Given the description of an element on the screen output the (x, y) to click on. 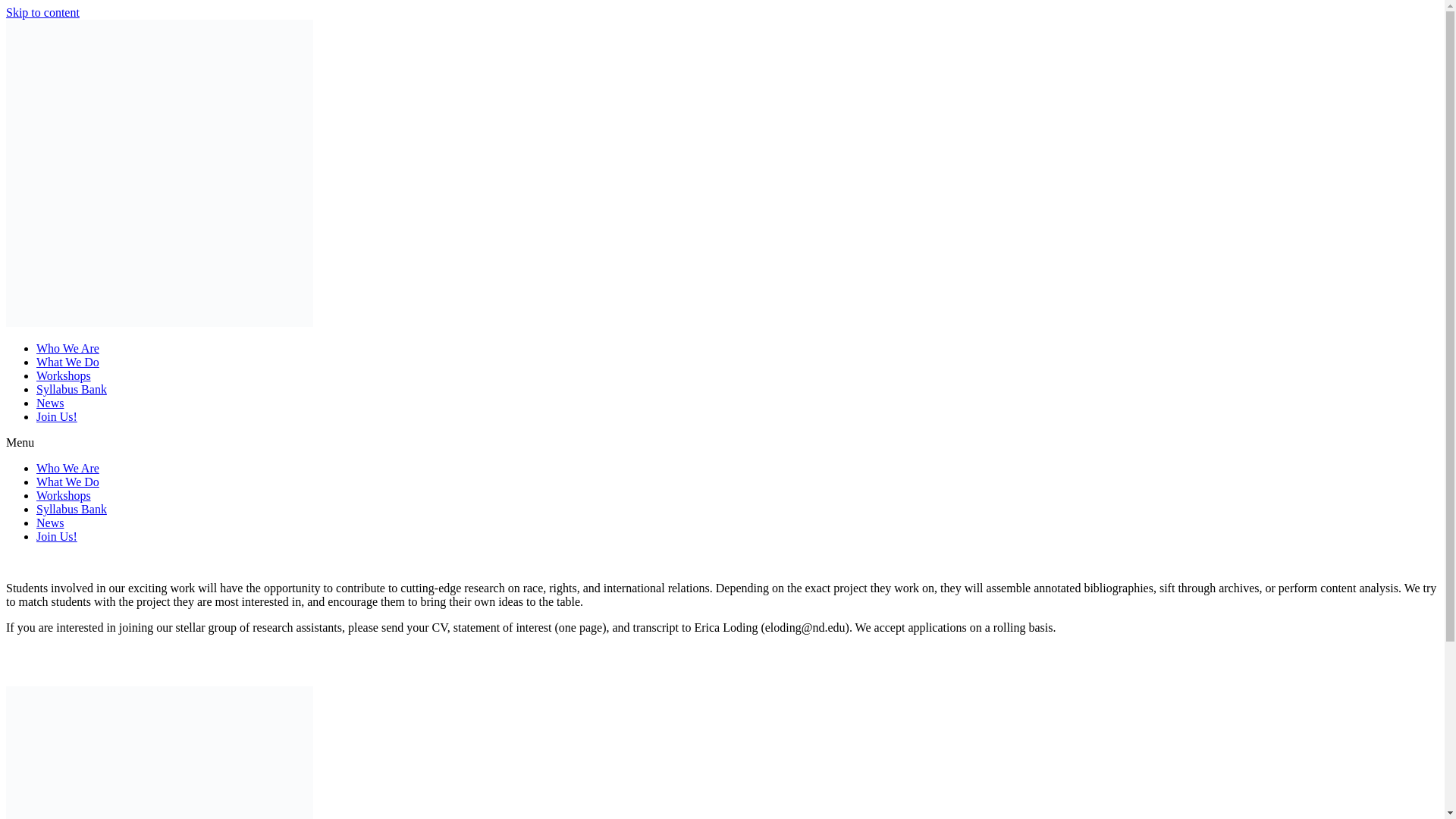
What We Do (67, 361)
Workshops (63, 375)
What We Do (67, 481)
Who We Are (67, 348)
Syllabus Bank (71, 508)
News (50, 402)
Who We Are (67, 468)
Syllabus Bank (71, 389)
Workshops (63, 495)
Join Us! (56, 416)
Skip to content (42, 11)
Join Us! (56, 535)
News (50, 522)
